Given the description of an element on the screen output the (x, y) to click on. 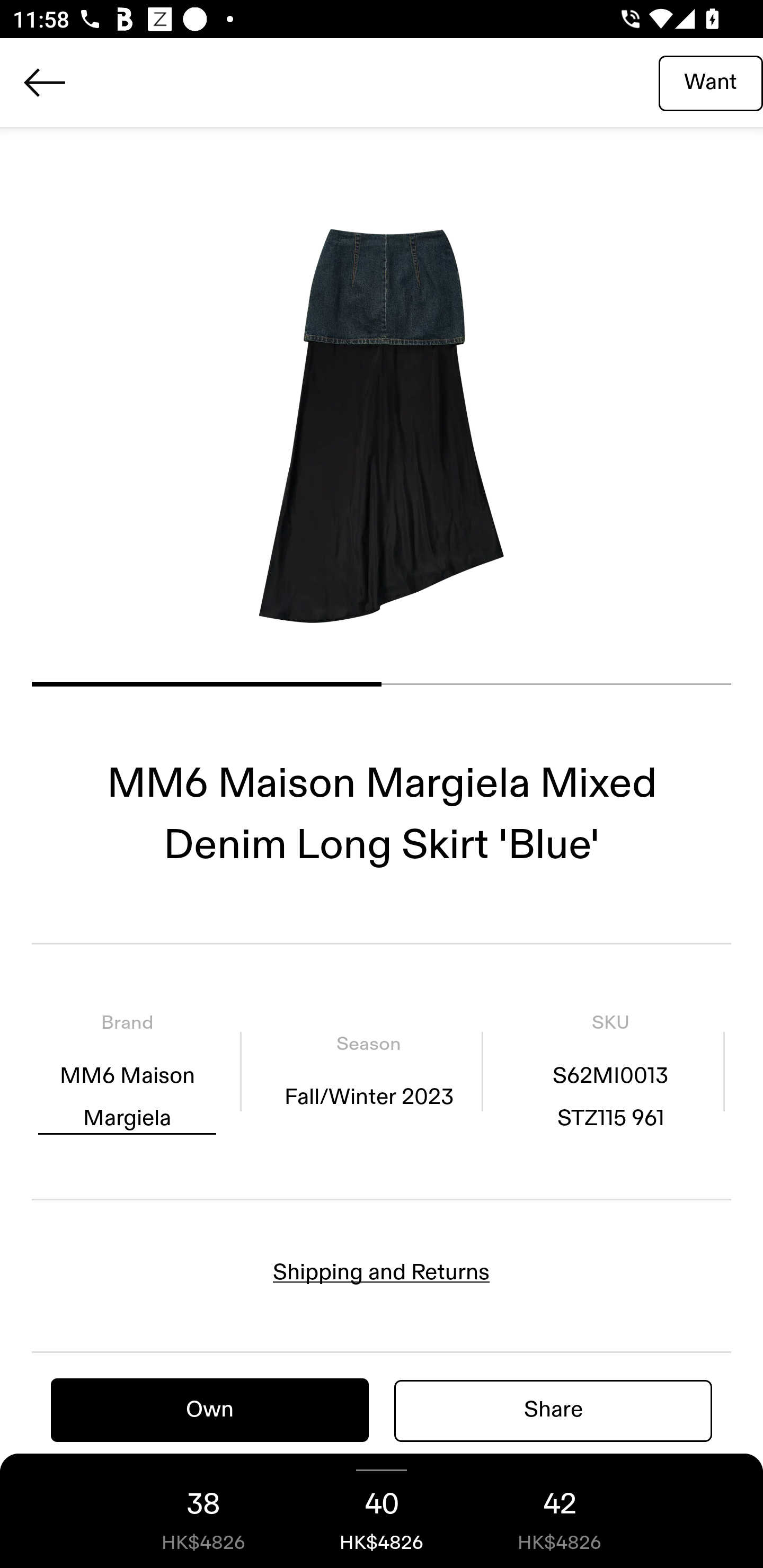
Want (710, 82)
Brand MM6 Maison Margiela (126, 1070)
Season Fall/Winter 2023 (368, 1070)
SKU S62MI0013 STZ115 961 (609, 1070)
Shipping and Returns (381, 1272)
Own (209, 1410)
Share (552, 1410)
38 HK$4826 (203, 1510)
40 HK$4826 (381, 1510)
42 HK$4826 (559, 1510)
